Given the description of an element on the screen output the (x, y) to click on. 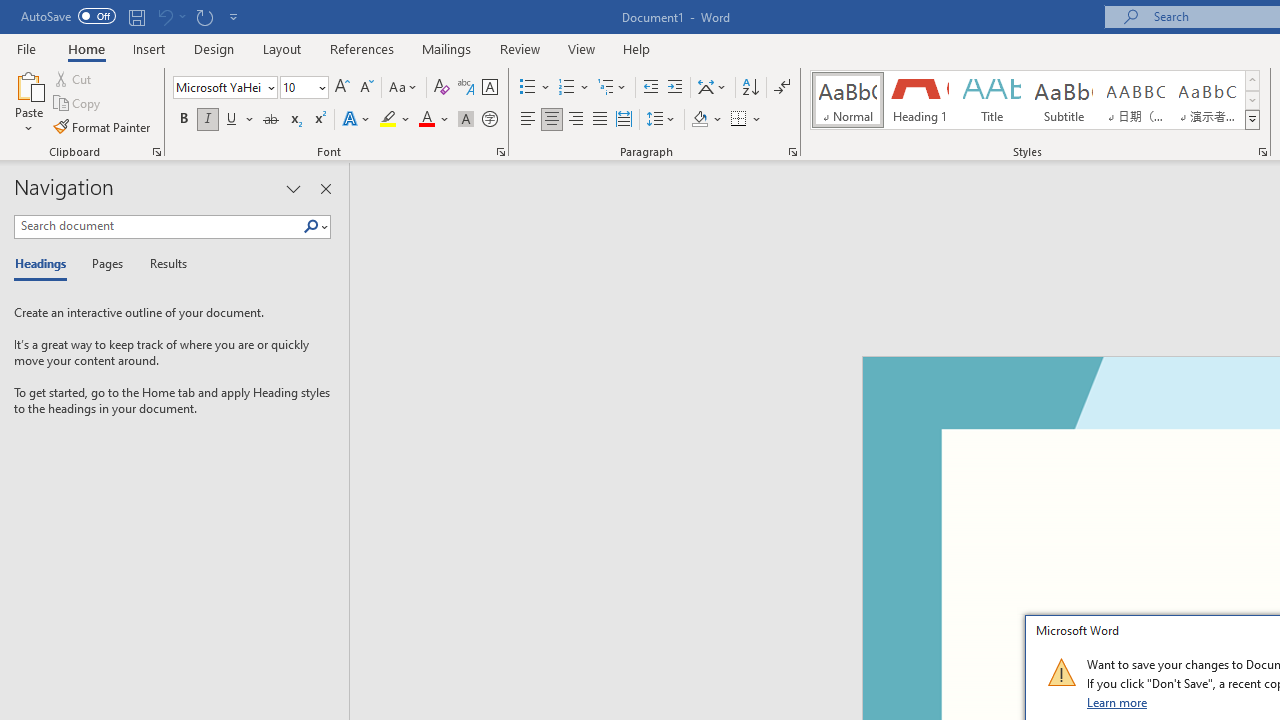
Title (991, 100)
